Given the description of an element on the screen output the (x, y) to click on. 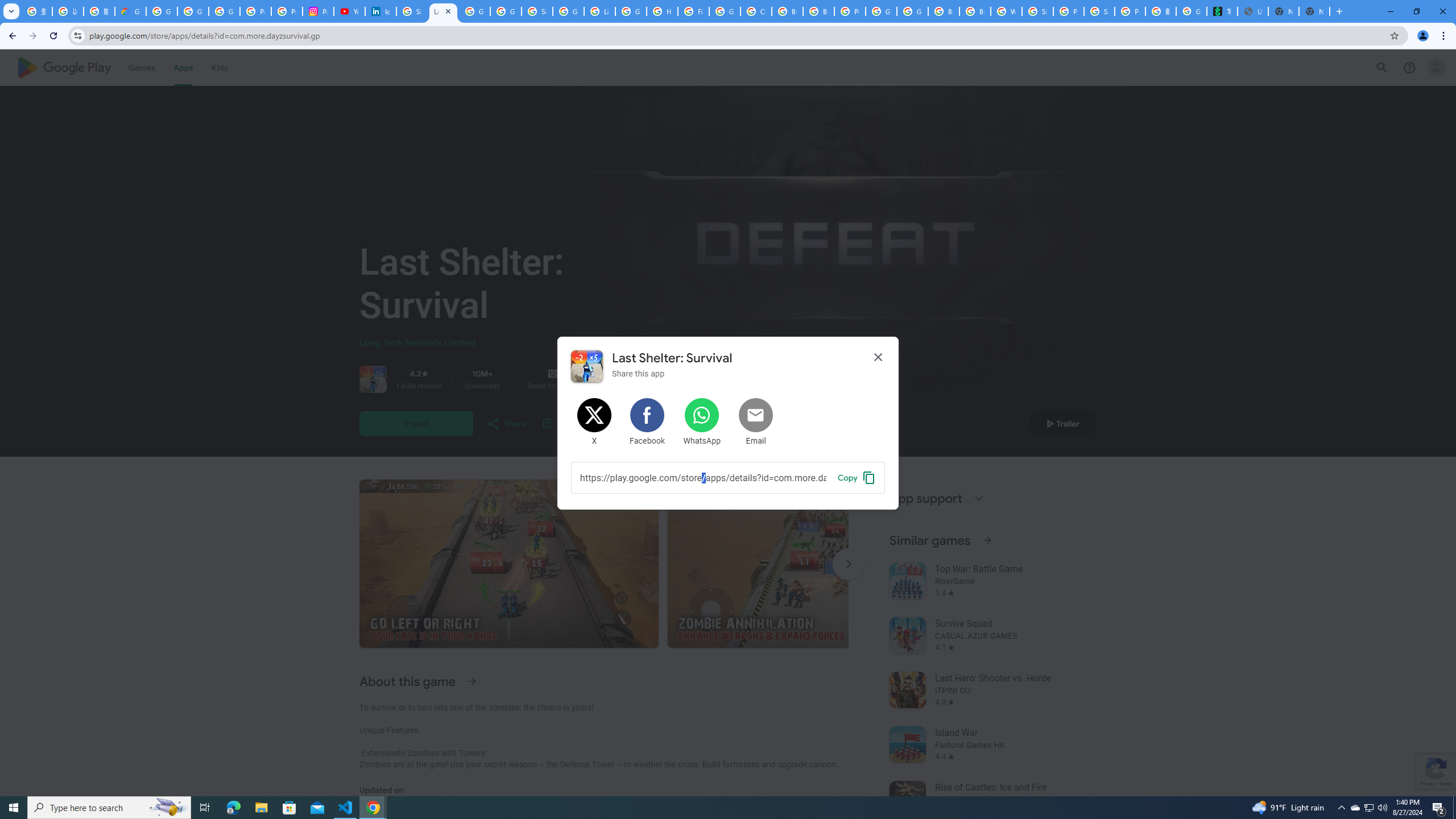
Sign in - Google Accounts (411, 11)
Share on X (formerly Twitter) (594, 421)
YouTube Culture & Trends - On The Rise: Handcam Videos (349, 11)
Copy link to clipboard (856, 477)
Google Cloud Platform (912, 11)
Browse Chrome as a guest - Computer - Google Chrome Help (943, 11)
Google Cloud Platform (881, 11)
Google Workspace - Specific Terms (505, 11)
